Given the description of an element on the screen output the (x, y) to click on. 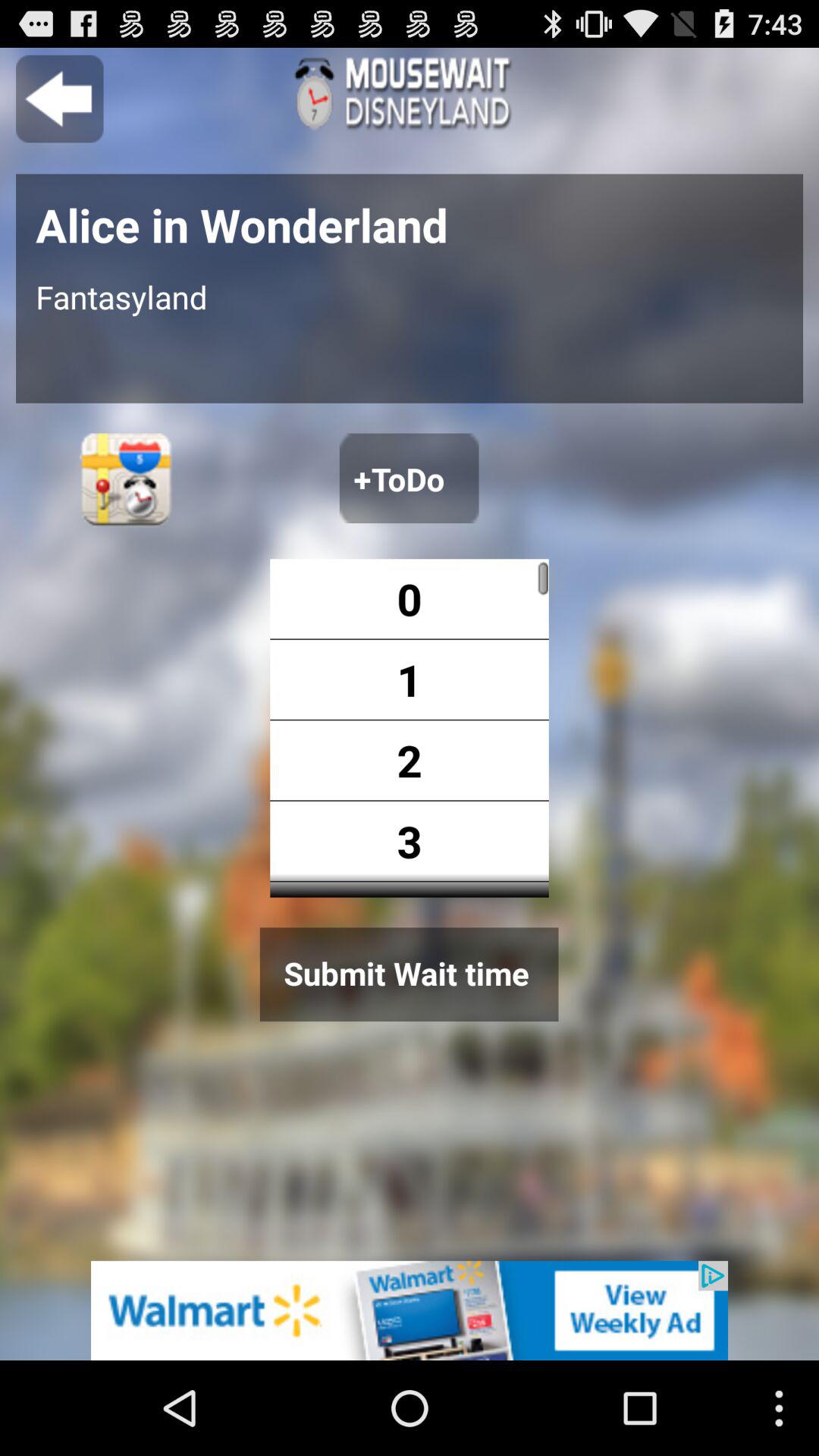
add option (408, 478)
